Given the description of an element on the screen output the (x, y) to click on. 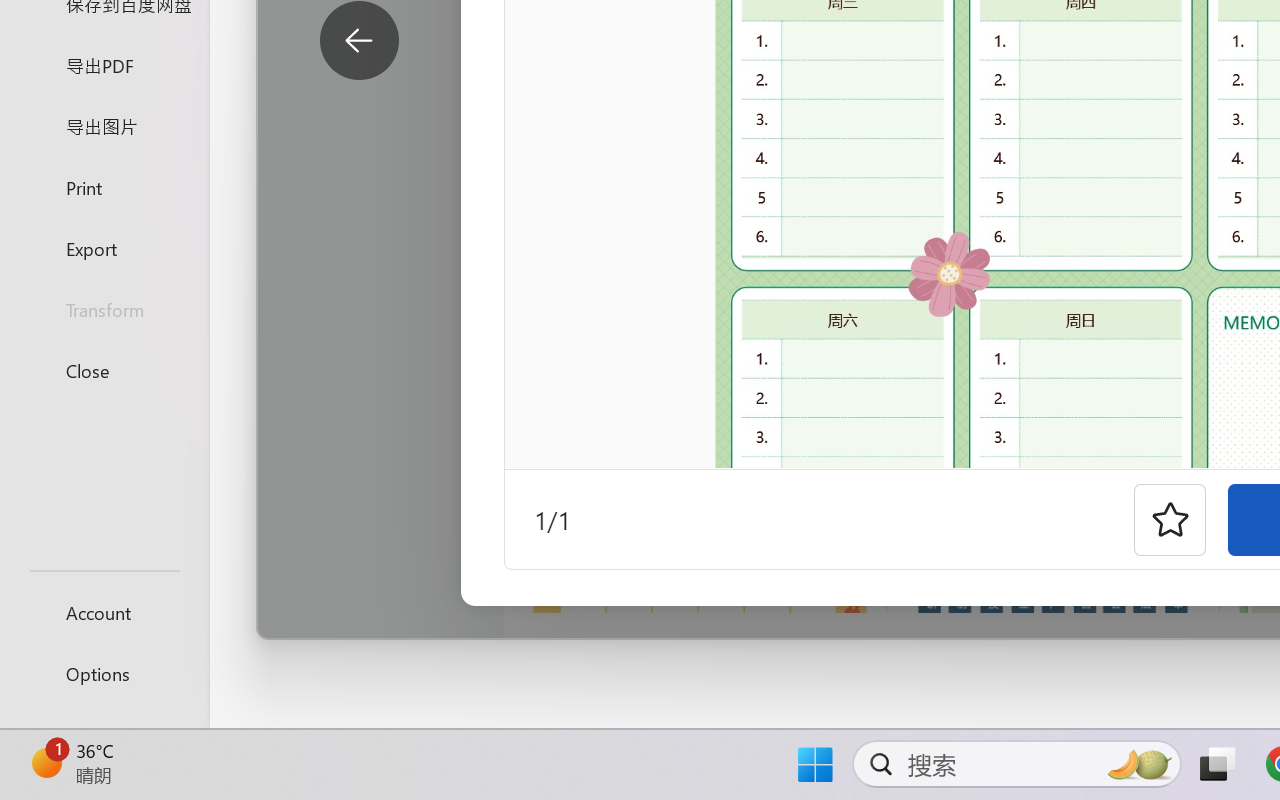
Export (104, 248)
Account (104, 612)
Print (104, 186)
Transform (104, 309)
Options (104, 673)
